Given the description of an element on the screen output the (x, y) to click on. 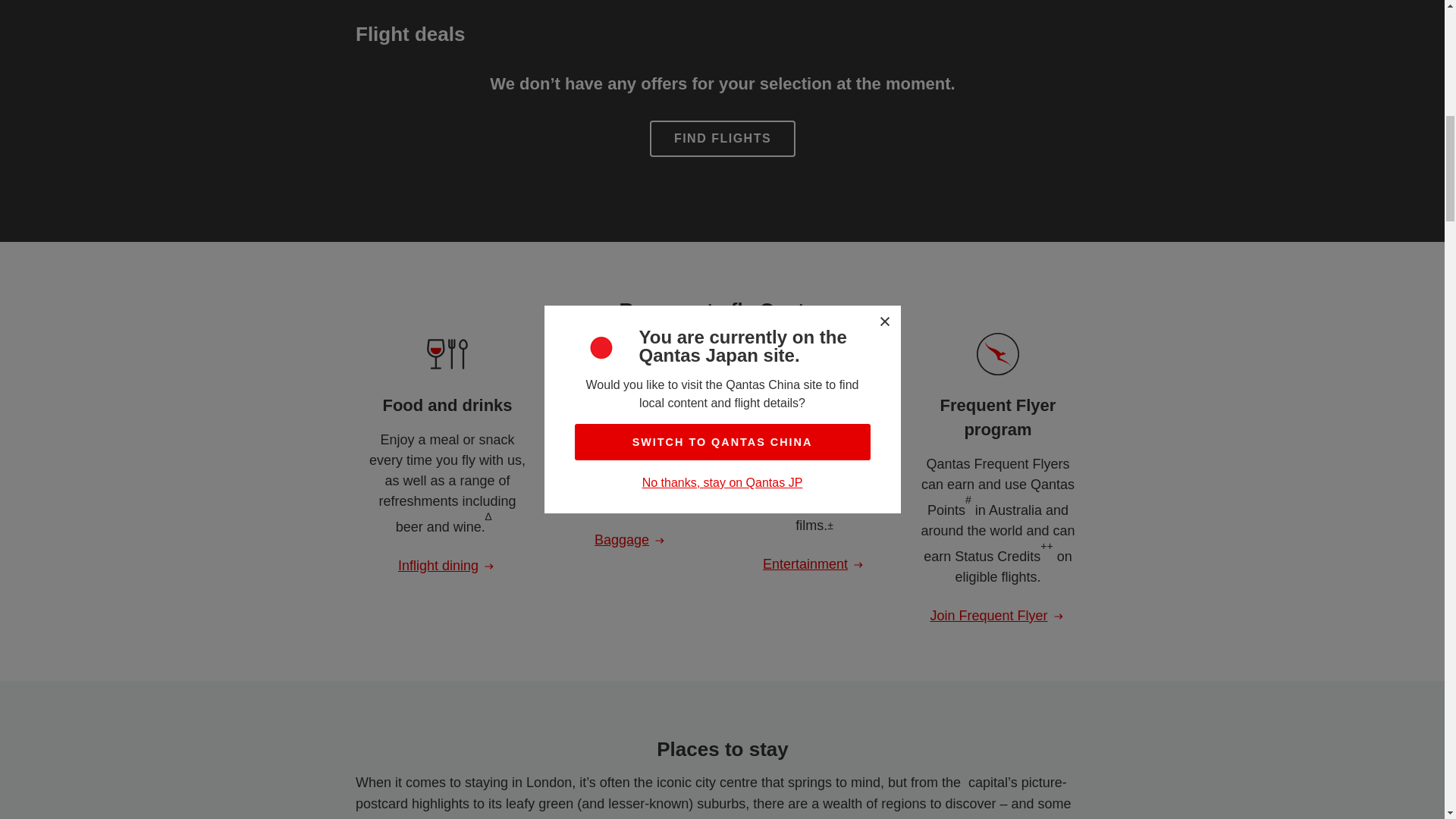
Baggage information (630, 539)
